Given the description of an element on the screen output the (x, y) to click on. 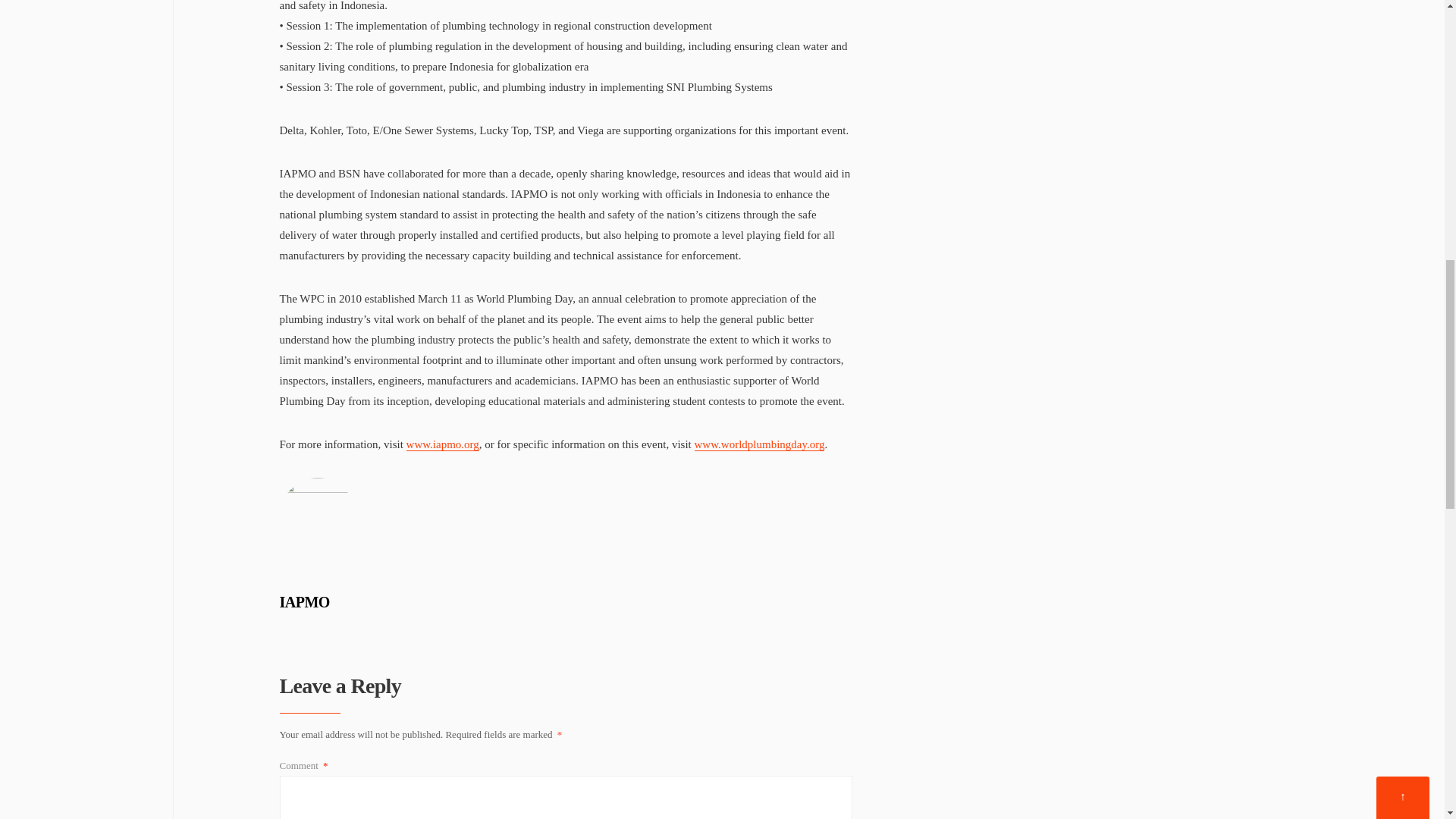
www.iapmo.org (442, 444)
www.worldplumbingday.org (759, 444)
IAPMO (304, 601)
Scroll to top (1402, 1)
